Given the description of an element on the screen output the (x, y) to click on. 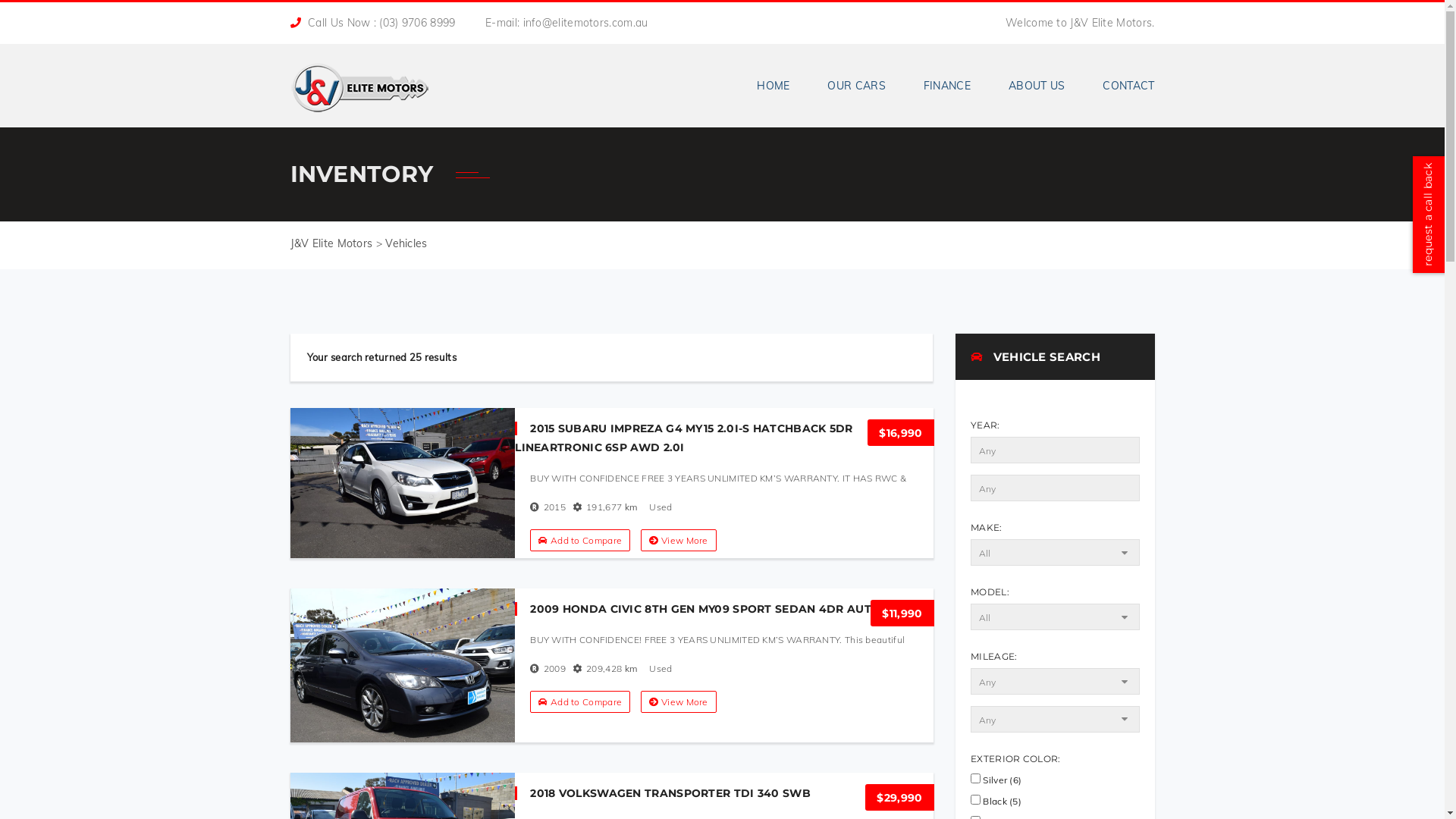
J&V Elite Motors Element type: text (330, 243)
View More Element type: text (677, 701)
HOME Element type: text (772, 85)
2009 HONDA CIVIC 8TH GEN MY09 SPORT SEDAN 4DR AUTO 5SP 2.0I Element type: text (721, 608)
ABOUT US Element type: text (1036, 85)
2018 VOLKSWAGEN TRANSPORTER TDI 340 SWB Element type: text (662, 793)
FINANCE Element type: text (946, 85)
J&V Elite Motors Element type: hover (358, 81)
View More Element type: text (677, 540)
CONTACT Element type: text (1118, 85)
OUR CARS Element type: text (855, 85)
